Given the description of an element on the screen output the (x, y) to click on. 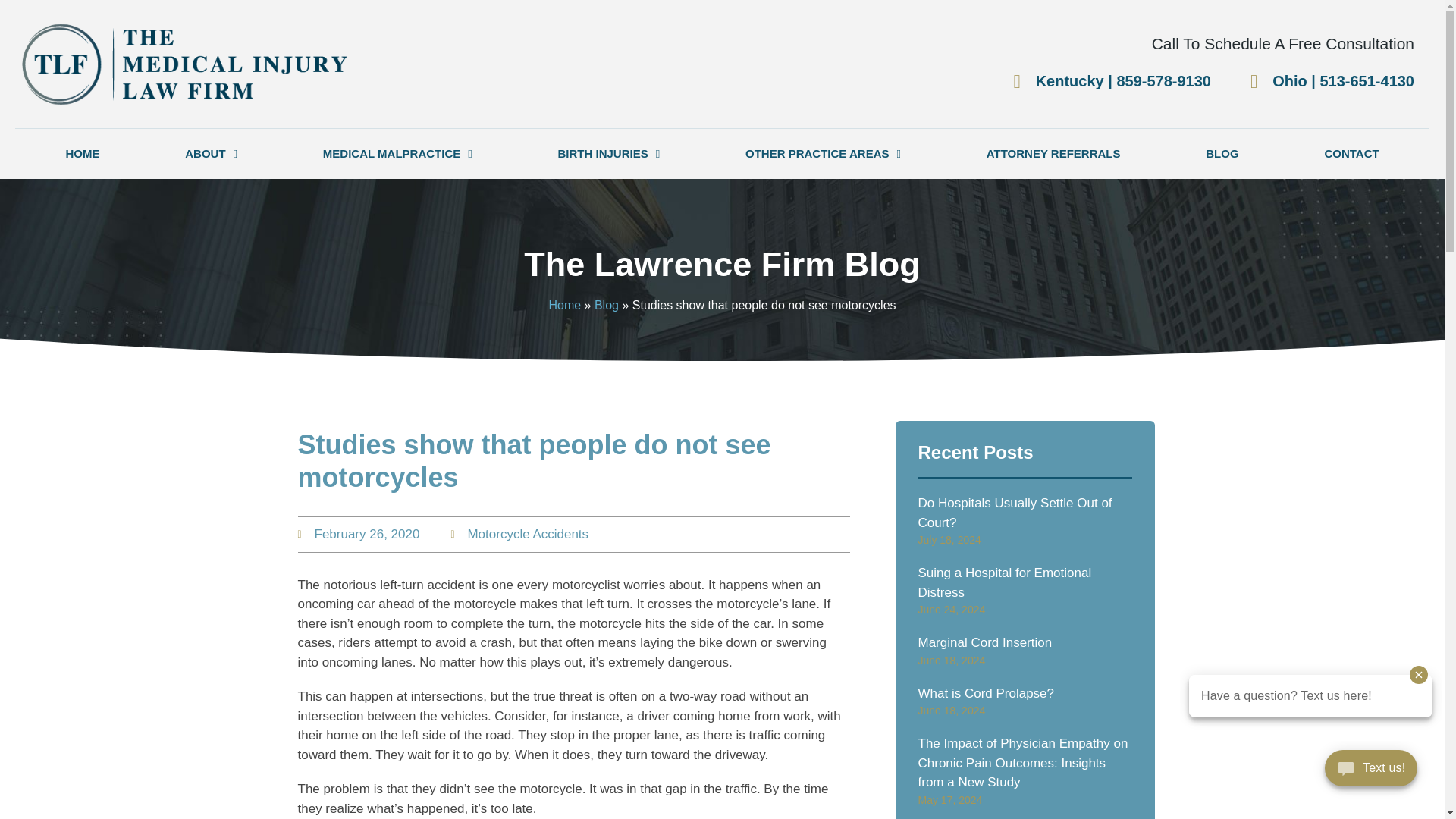
HOME (82, 153)
MEDICAL MALPRACTICE (397, 153)
ABOUT (211, 153)
